Given the description of an element on the screen output the (x, y) to click on. 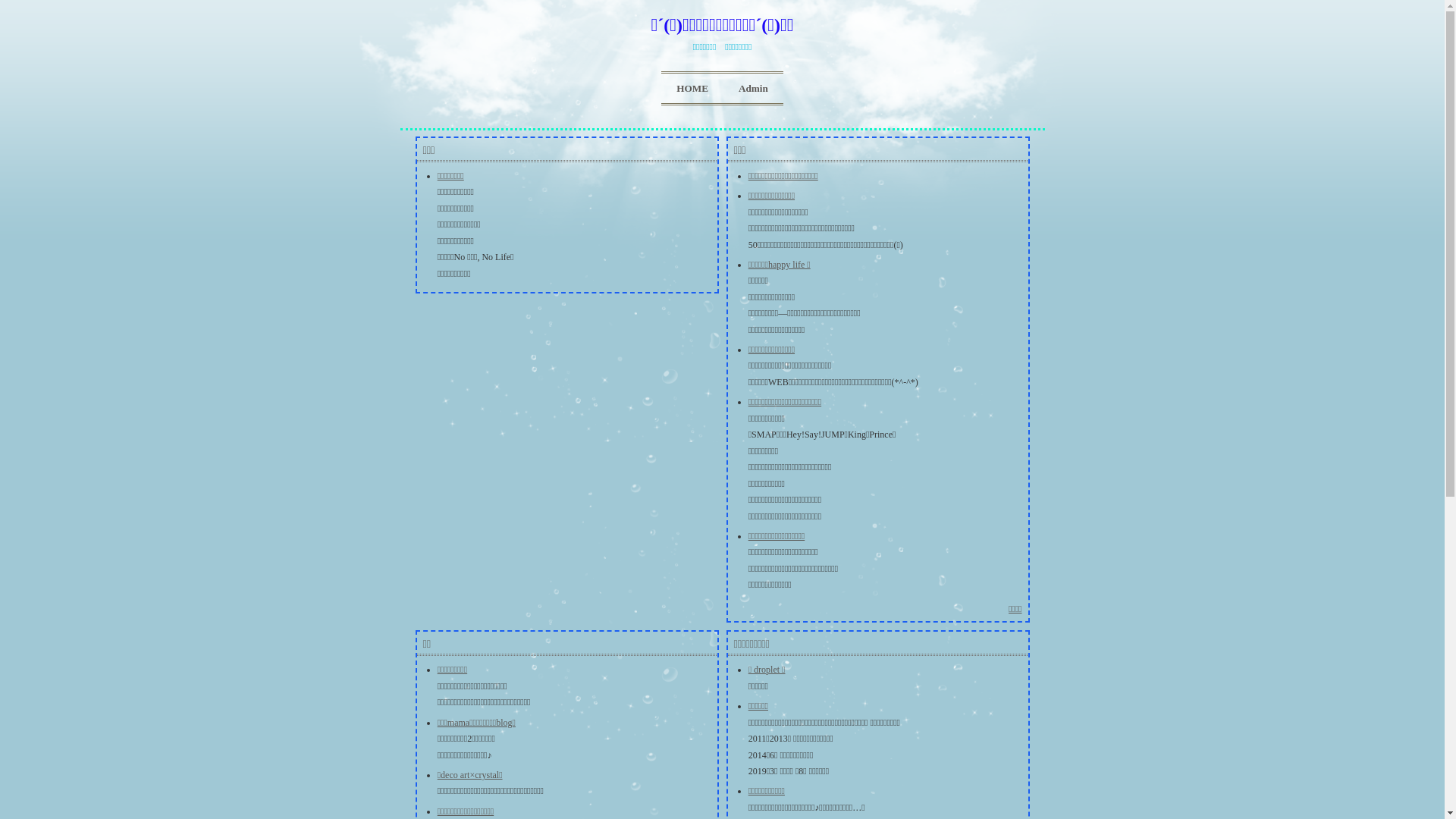
HOME Element type: text (692, 88)
Admin Element type: text (753, 88)
